Given the description of an element on the screen output the (x, y) to click on. 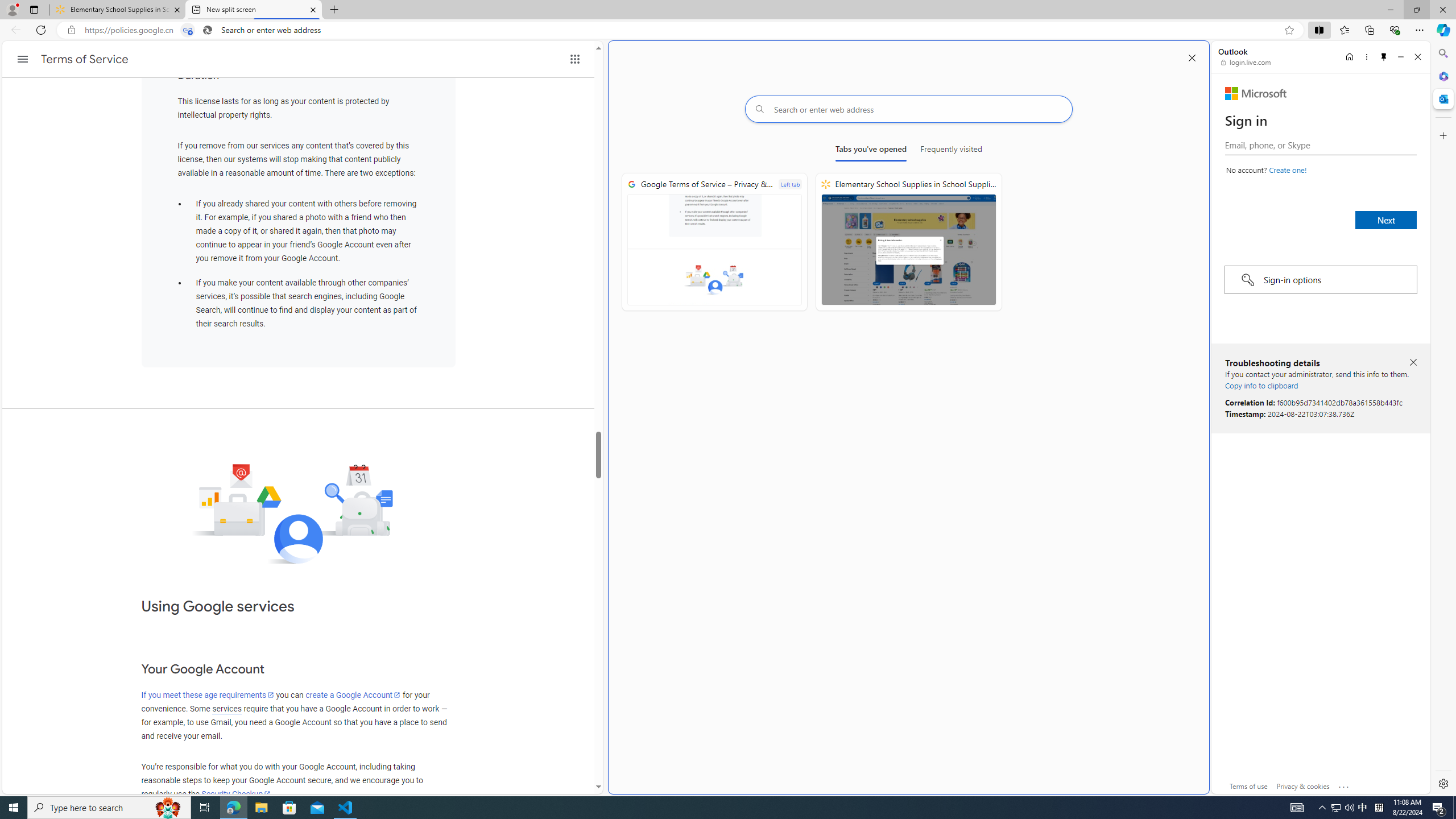
Enter your email, phone, or Skype. (1320, 145)
New split screen (253, 9)
Unpin side pane (1383, 56)
View site information (70, 29)
Close troubleshooting details (1412, 362)
Favorites (1344, 29)
Refresh (40, 29)
New Tab (334, 9)
Split screen (1318, 29)
Copilot (Ctrl+Shift+.) (1442, 29)
Back (13, 29)
Close tab (312, 9)
Search or enter web address (909, 108)
